Given the description of an element on the screen output the (x, y) to click on. 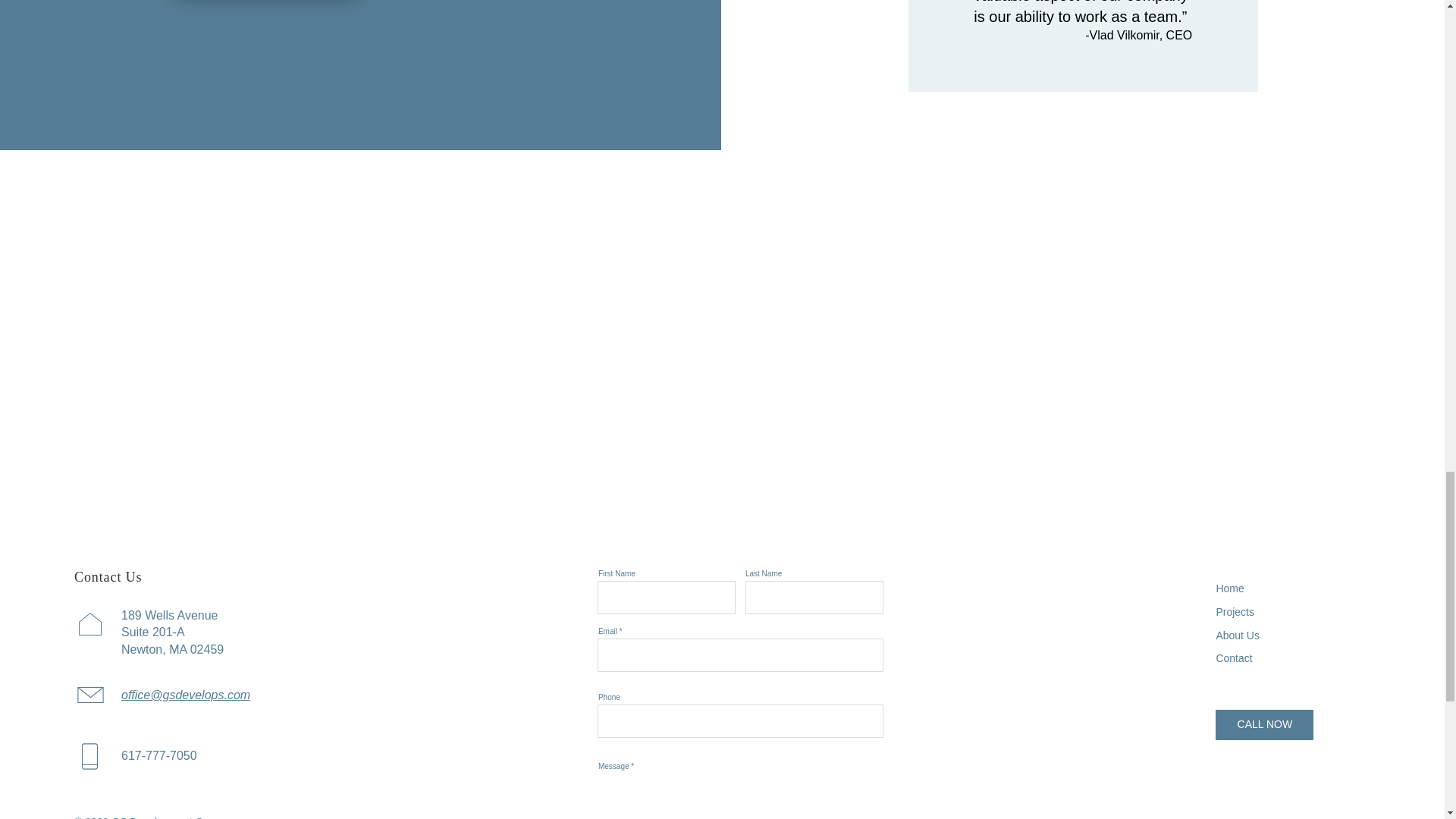
Projects (1234, 612)
Contact (1233, 657)
Home (1229, 588)
About Us (1237, 635)
CALL NOW (1264, 725)
